Given the description of an element on the screen output the (x, y) to click on. 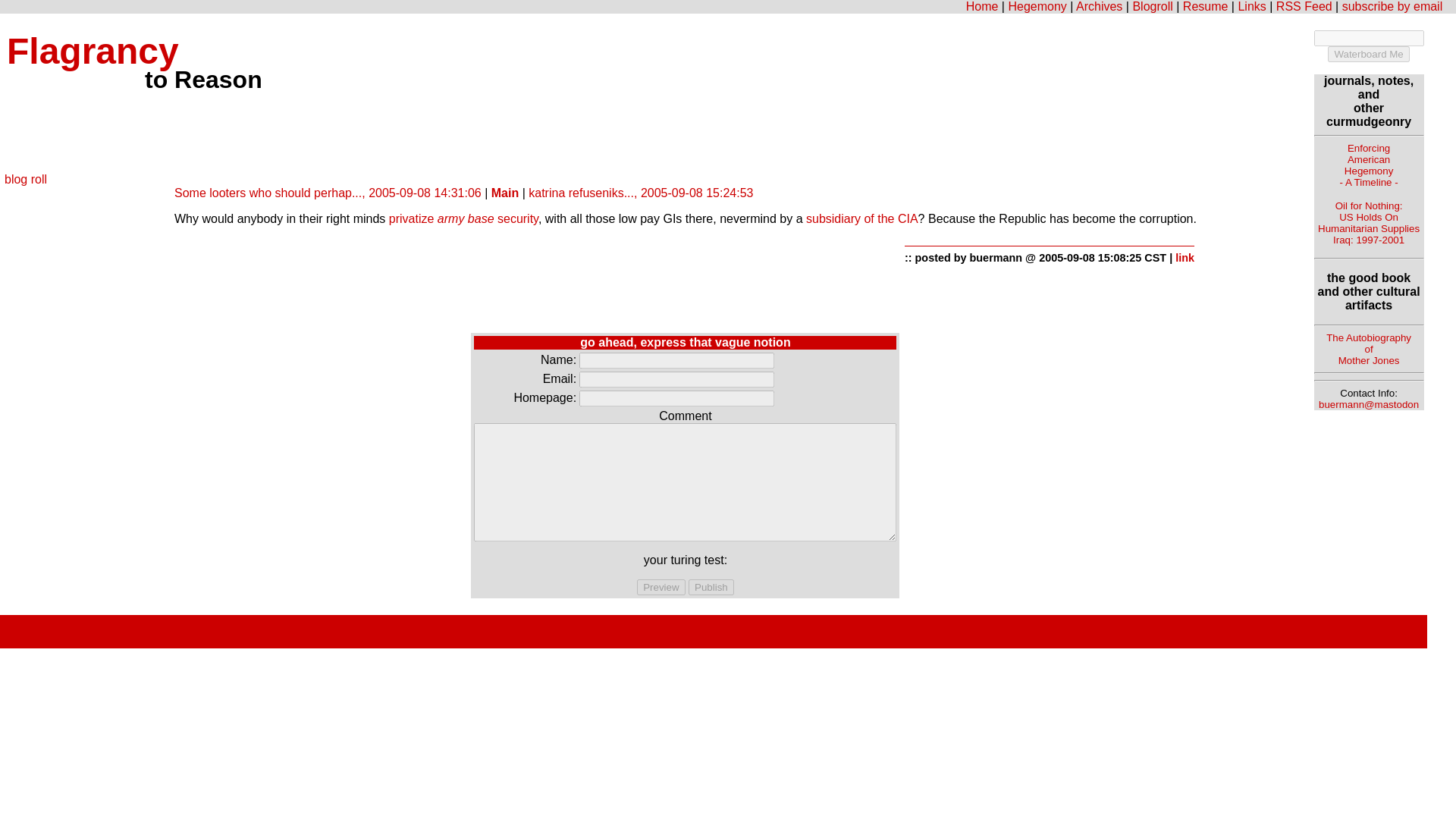
Home (982, 6)
Hegemony (1036, 6)
Resume (1205, 6)
blog roll (25, 178)
Archives (1098, 6)
subsidiary of the CIA (862, 218)
Preview (660, 587)
Publish (710, 587)
Publish (1368, 165)
subscribe by email (710, 587)
RSS Feed (1392, 6)
katrina refuseniks..., 2005-09-08 15:24:53 (1304, 6)
Some looters who should perhap..., 2005-09-08 14:31:06 (640, 192)
Main (327, 192)
